Given the description of an element on the screen output the (x, y) to click on. 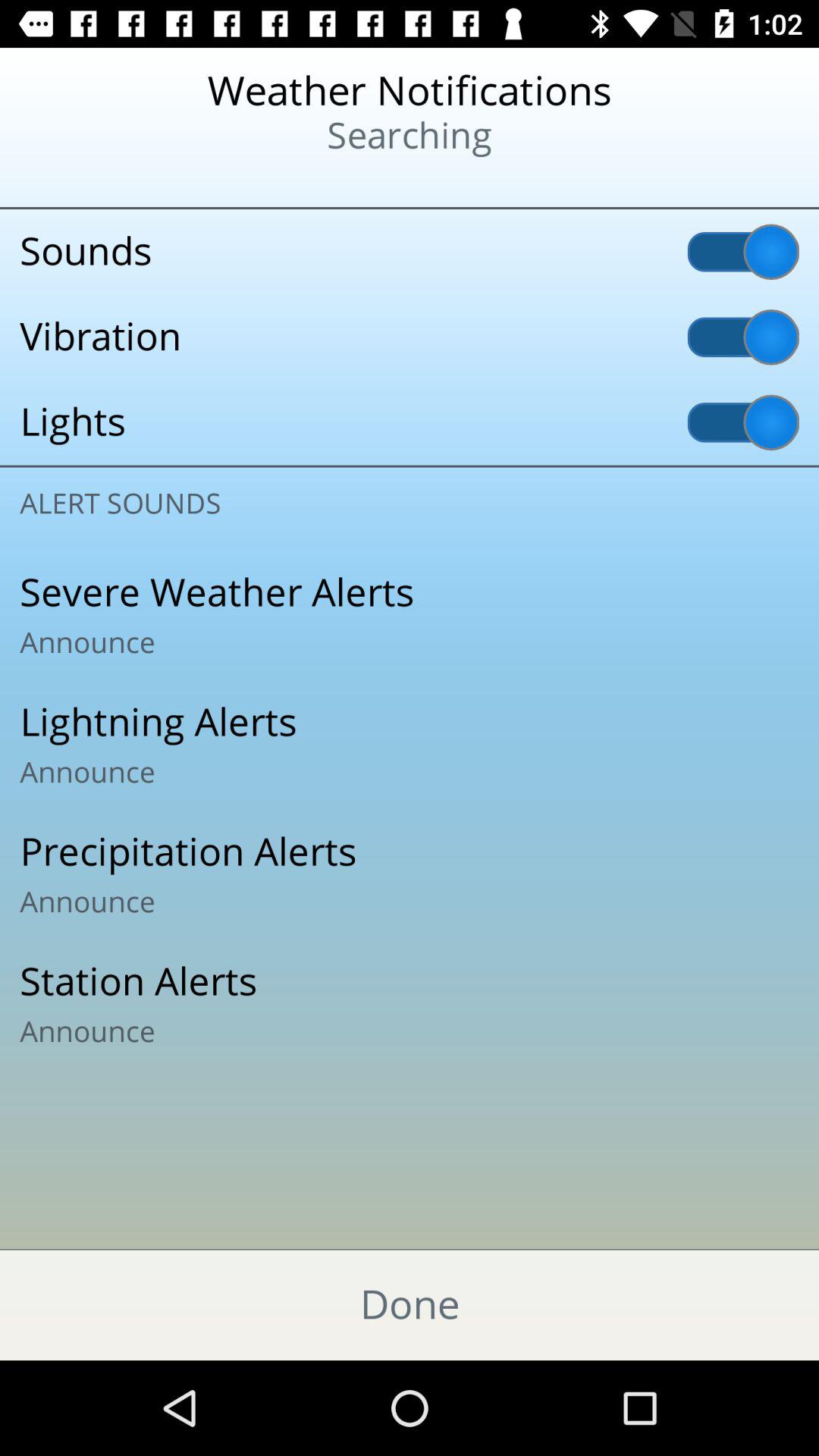
click the icon below the vibration item (409, 422)
